Given the description of an element on the screen output the (x, y) to click on. 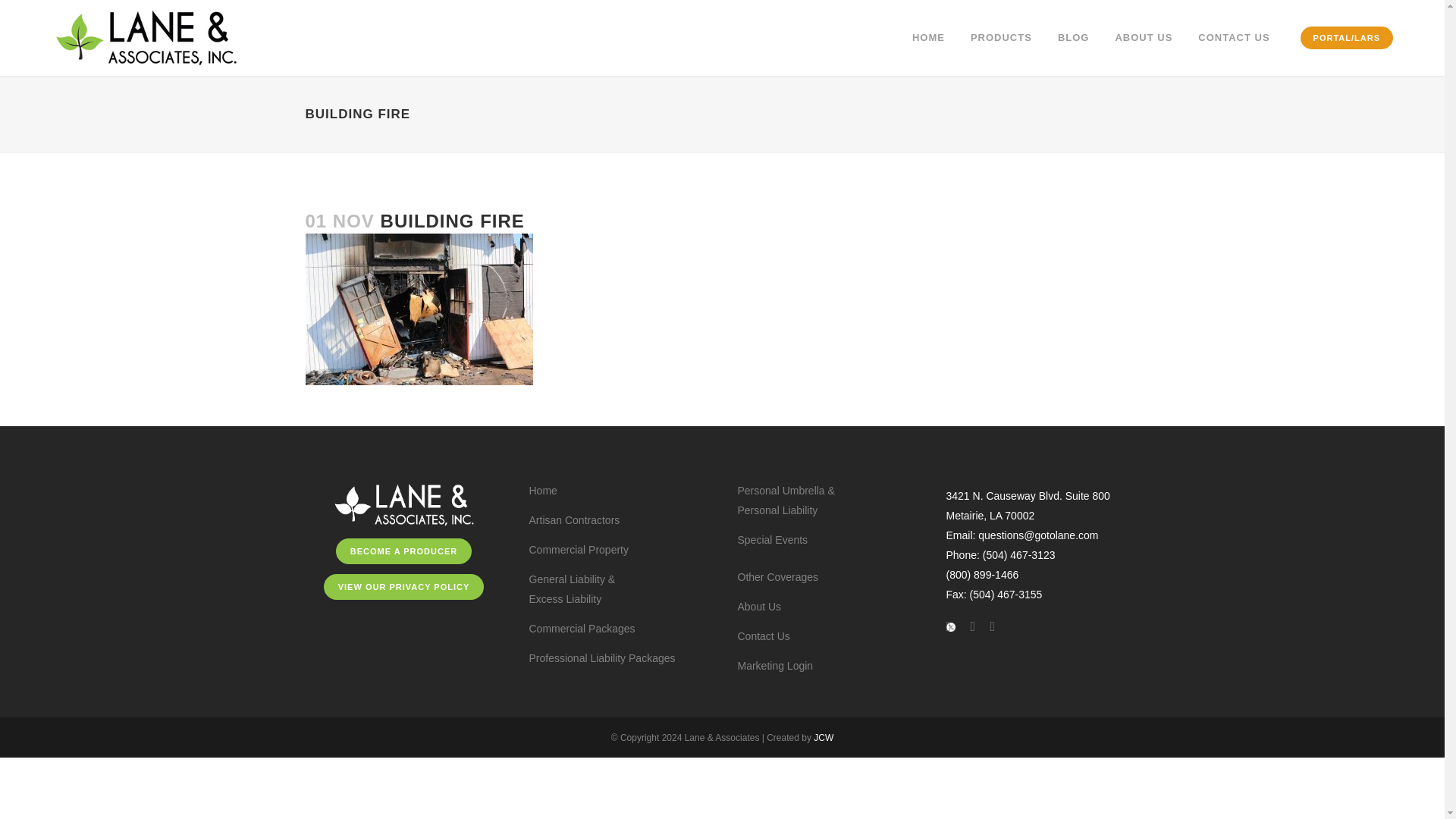
PRODUCTS (1001, 38)
BLOG (1073, 38)
CONTACT US (1233, 38)
ABOUT US (1143, 38)
HOME (928, 38)
